Given the description of an element on the screen output the (x, y) to click on. 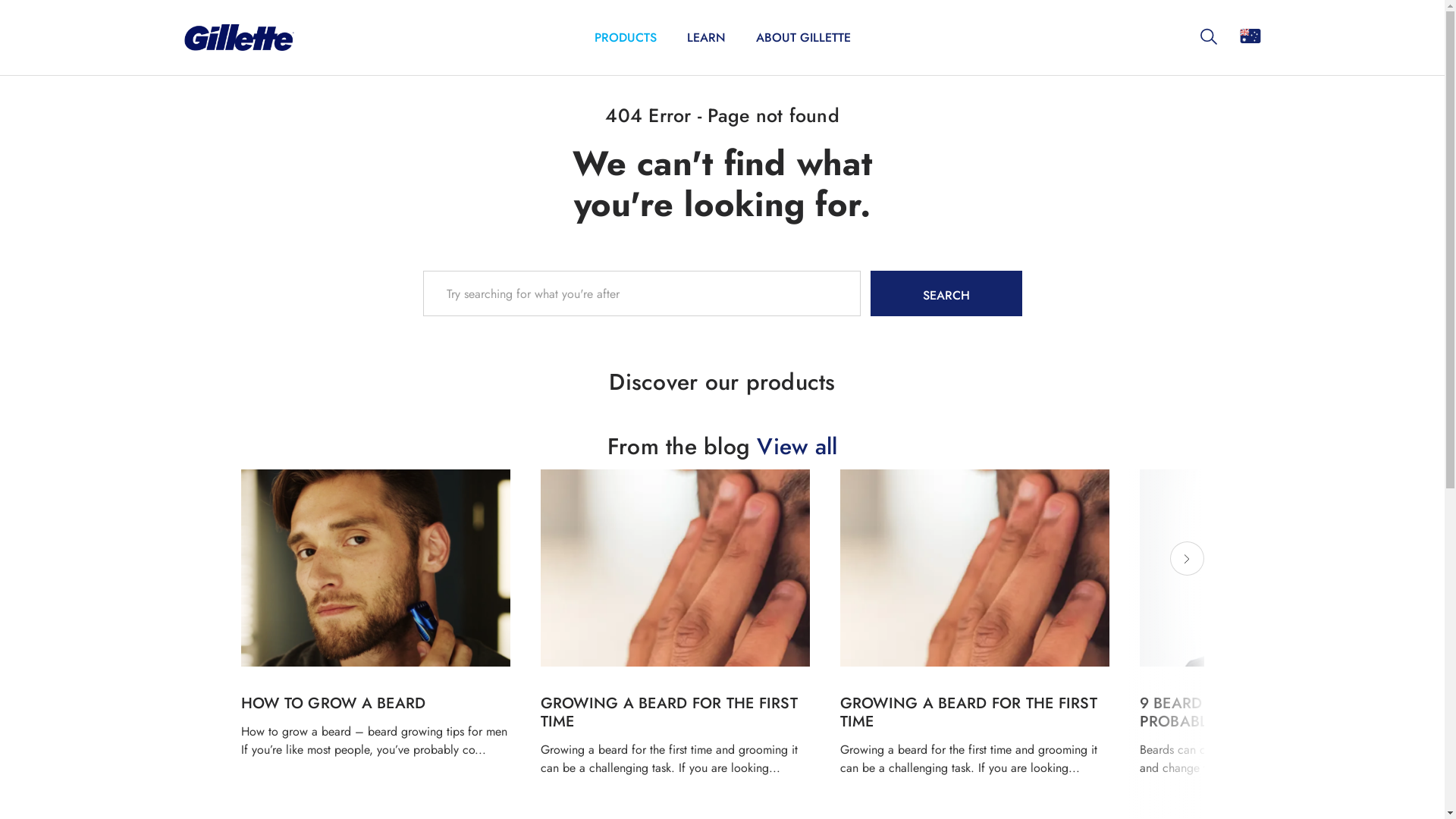
Search Element type: text (946, 293)
ABOUT GILLETTE Element type: text (802, 37)
PRODUCTS Element type: text (625, 37)
LEARN Element type: text (706, 37)
Gillette Direct Element type: hover (238, 37)
Next Element type: text (1186, 558)
View all Element type: text (796, 445)
